Given the description of an element on the screen output the (x, y) to click on. 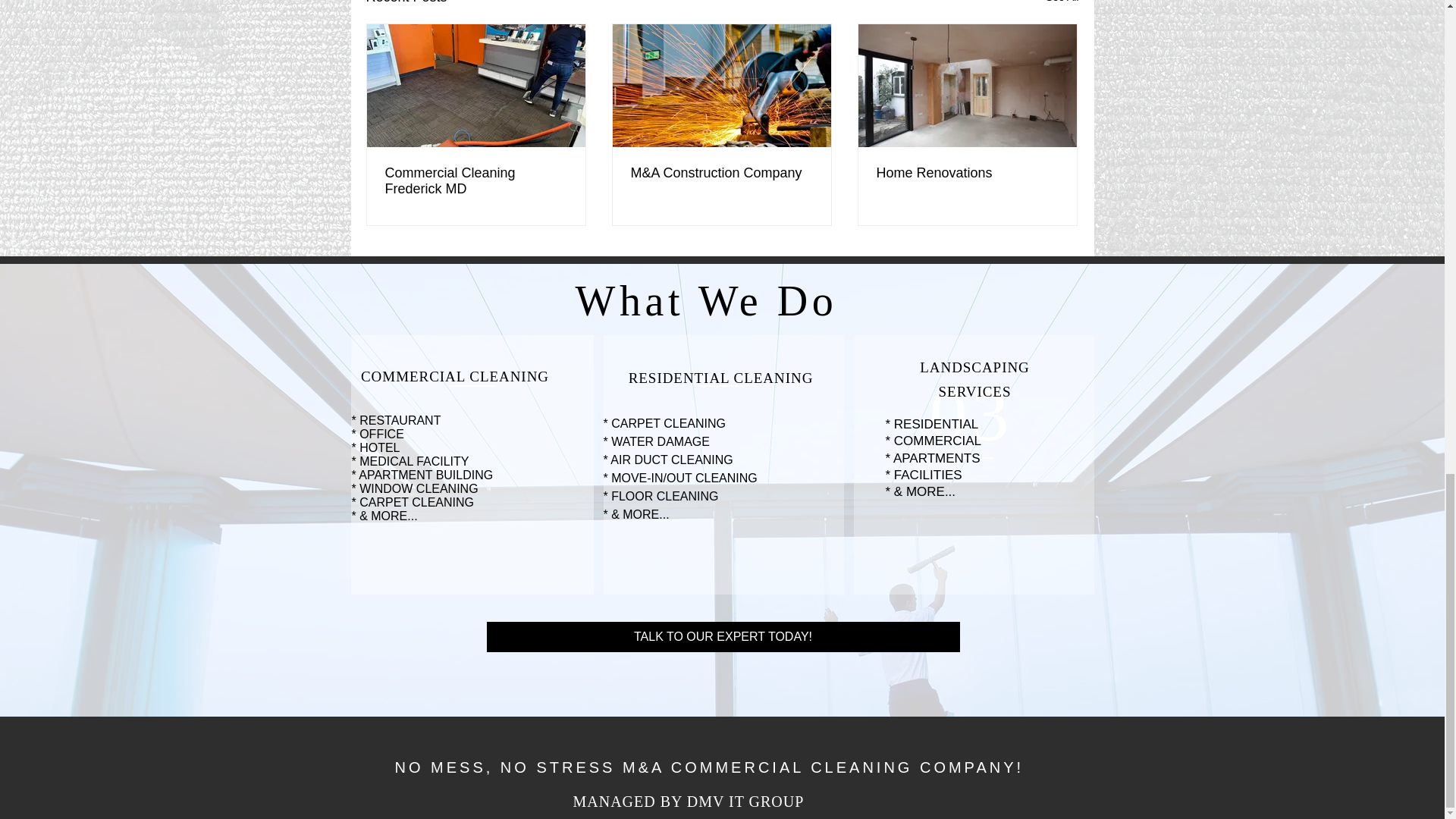
TALK TO OUR EXPERT TODAY! (722, 636)
DMV IT GROUP (758, 345)
See All (1061, 4)
Commercial Cleaning Frederick MD (476, 181)
MANAGED BY DMV IT GROUP (689, 801)
READ OUR REVIEWS OR LEAVE ONE! (734, 288)
Home Renovations (967, 172)
